Given the description of an element on the screen output the (x, y) to click on. 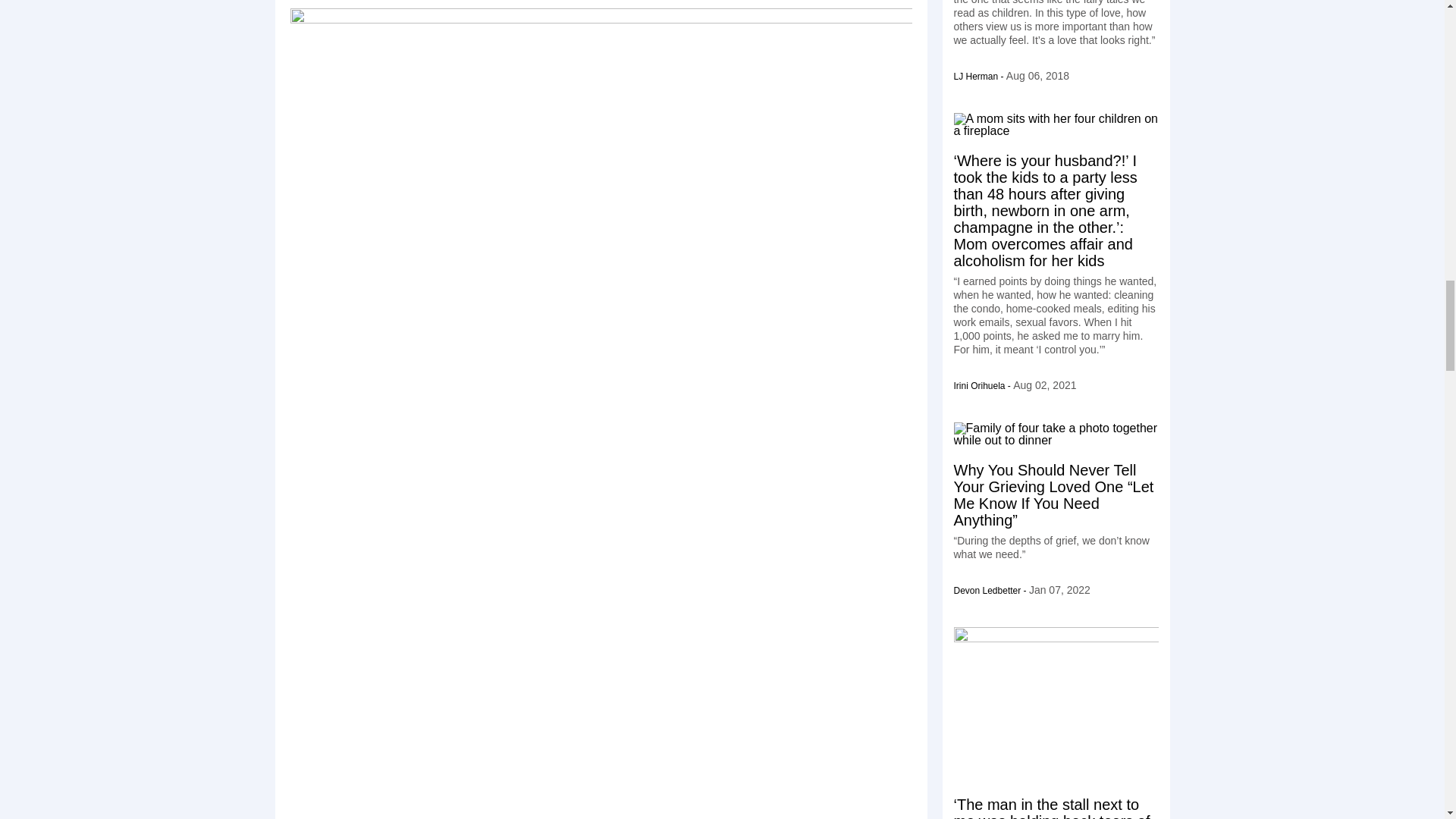
August 6, 2018 (1037, 75)
January 7, 2022 (1059, 589)
August 2, 2021 (1044, 385)
